Given the description of an element on the screen output the (x, y) to click on. 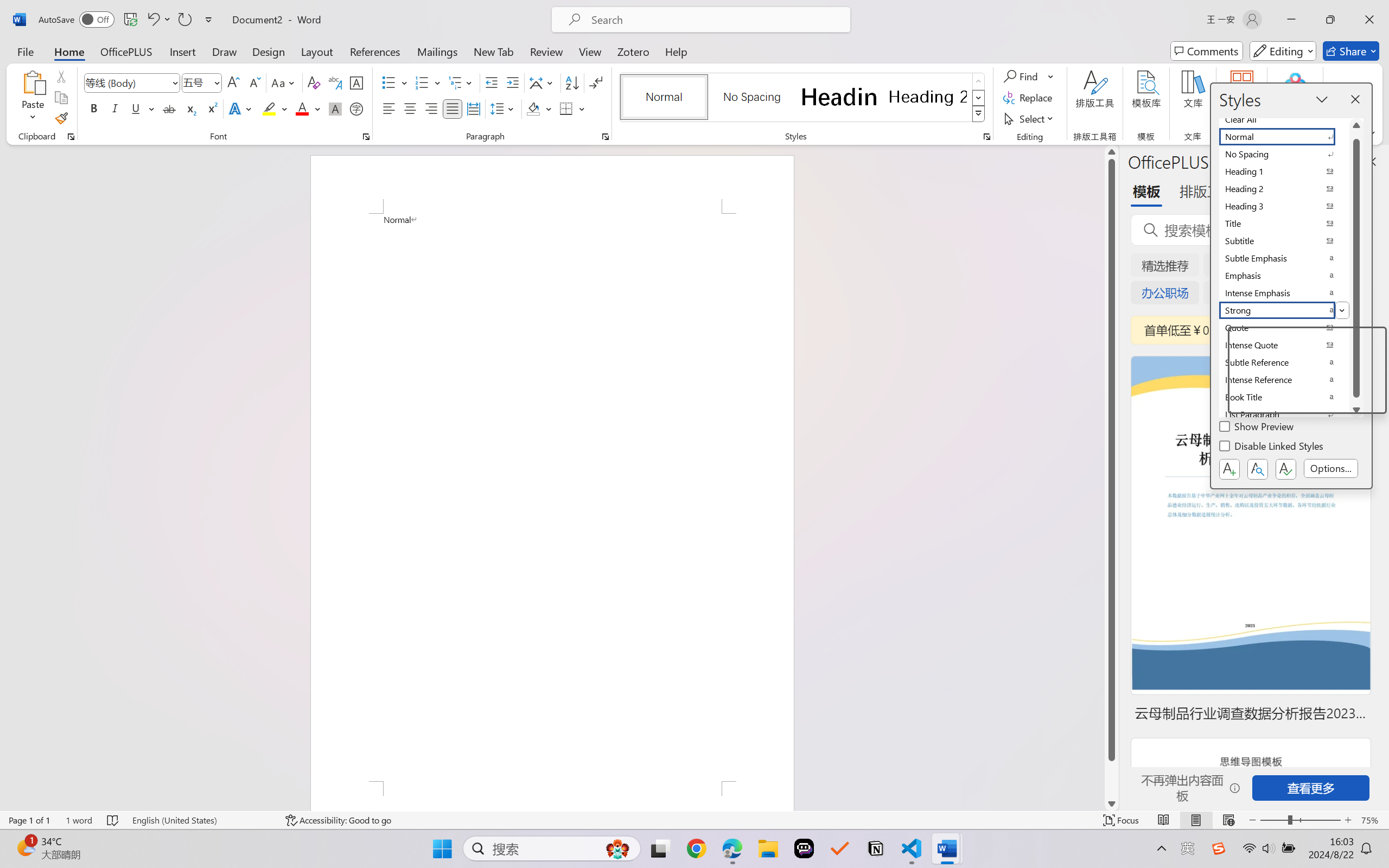
No Spacing (1283, 154)
Page down (1111, 778)
Line and Paragraph Spacing (503, 108)
Font (126, 82)
AutomationID: BadgeAnchorLargeTicker (24, 847)
Microsoft search (715, 19)
Distributed (473, 108)
Grow Font (233, 82)
Heading 1 (839, 96)
Subtitle (1283, 240)
Borders (566, 108)
AutomationID: DynamicSearchBoxGleamImage (617, 848)
